Given the description of an element on the screen output the (x, y) to click on. 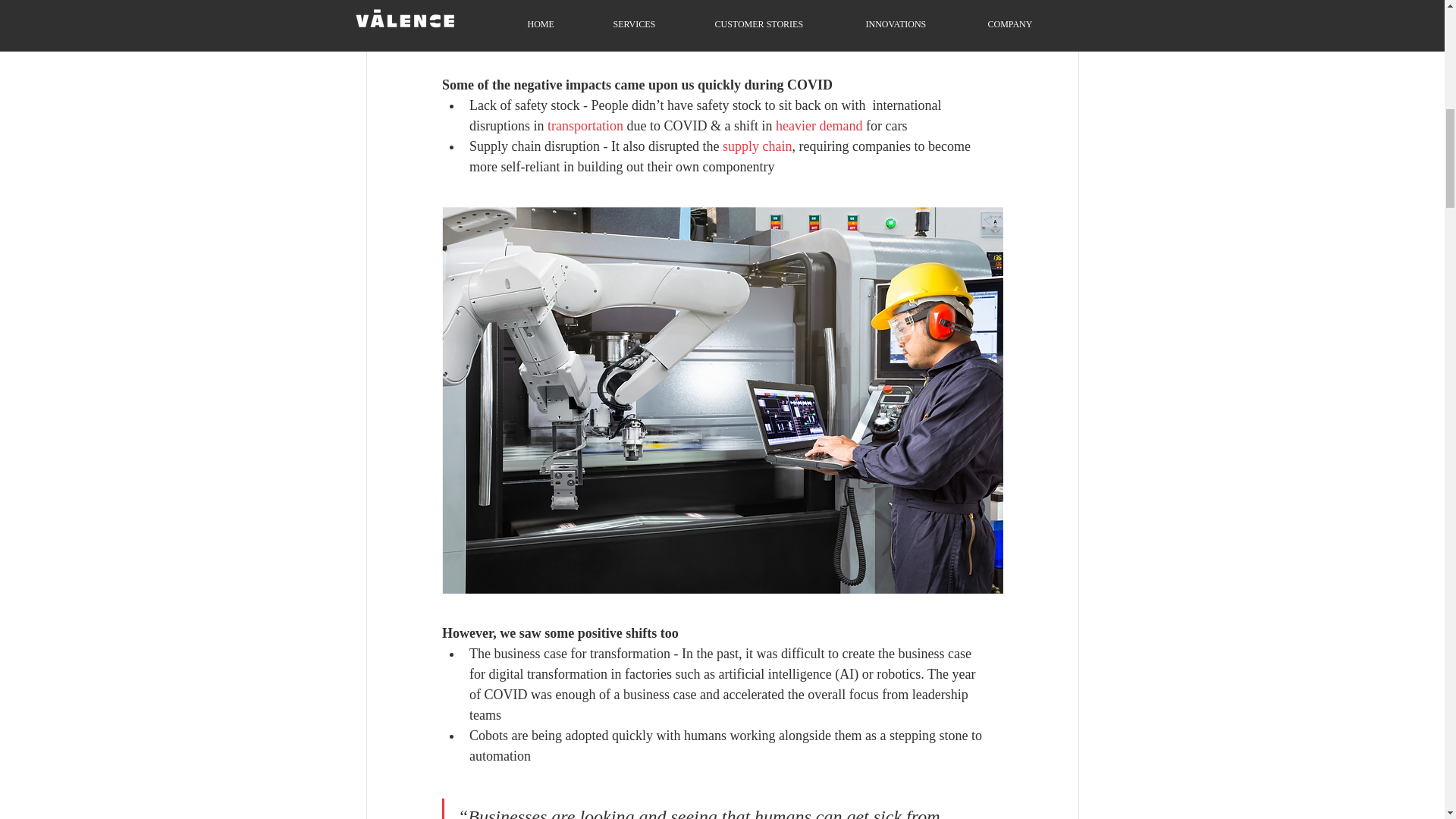
supply chain (757, 145)
transportation (585, 125)
heavier demand (817, 125)
